Given the description of an element on the screen output the (x, y) to click on. 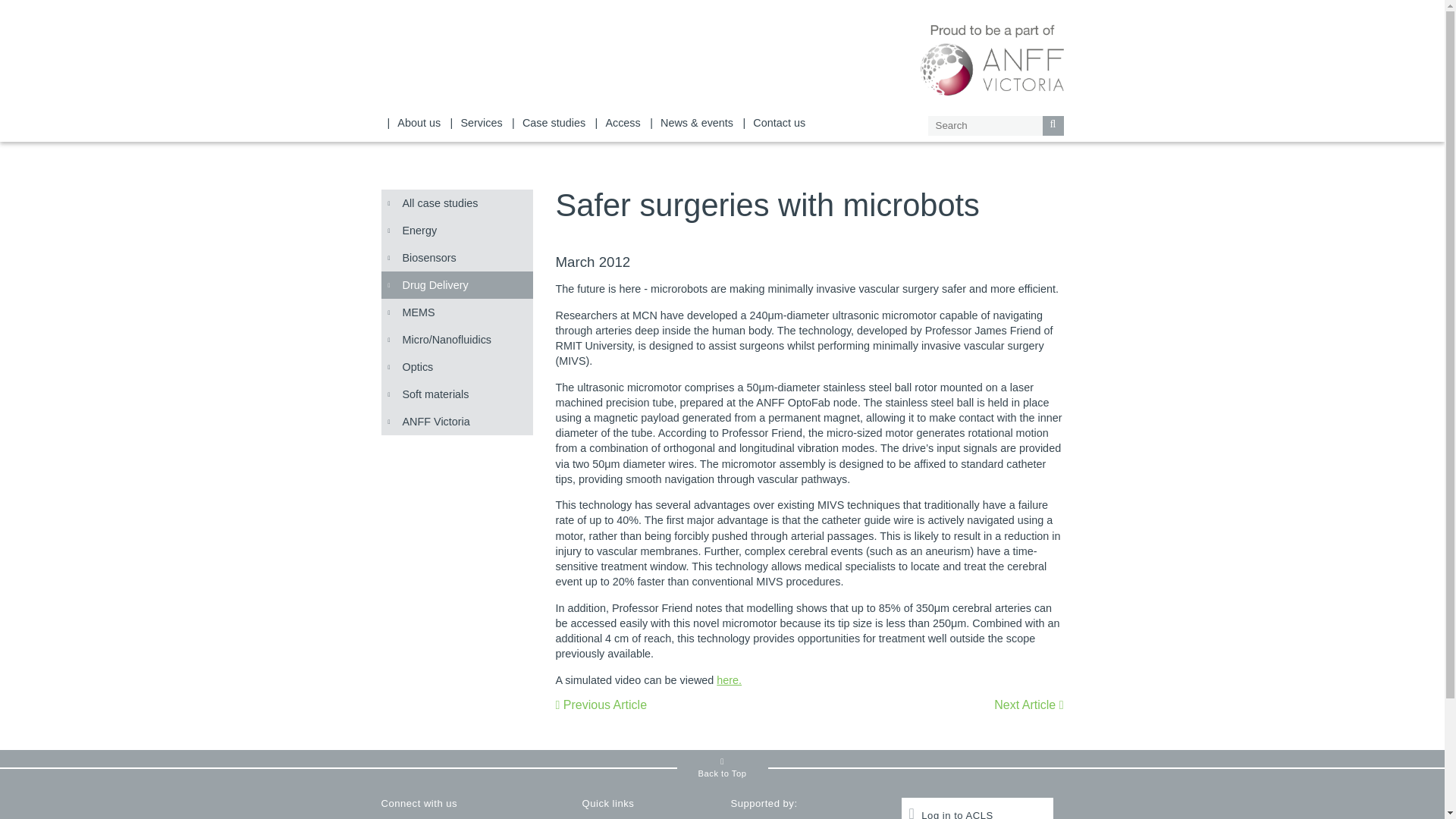
ANFF (992, 57)
Read Automated systems for cell transfection (1028, 704)
Back to Top (722, 768)
Read Nano-engineered intelligent delivery systems (600, 704)
